Given the description of an element on the screen output the (x, y) to click on. 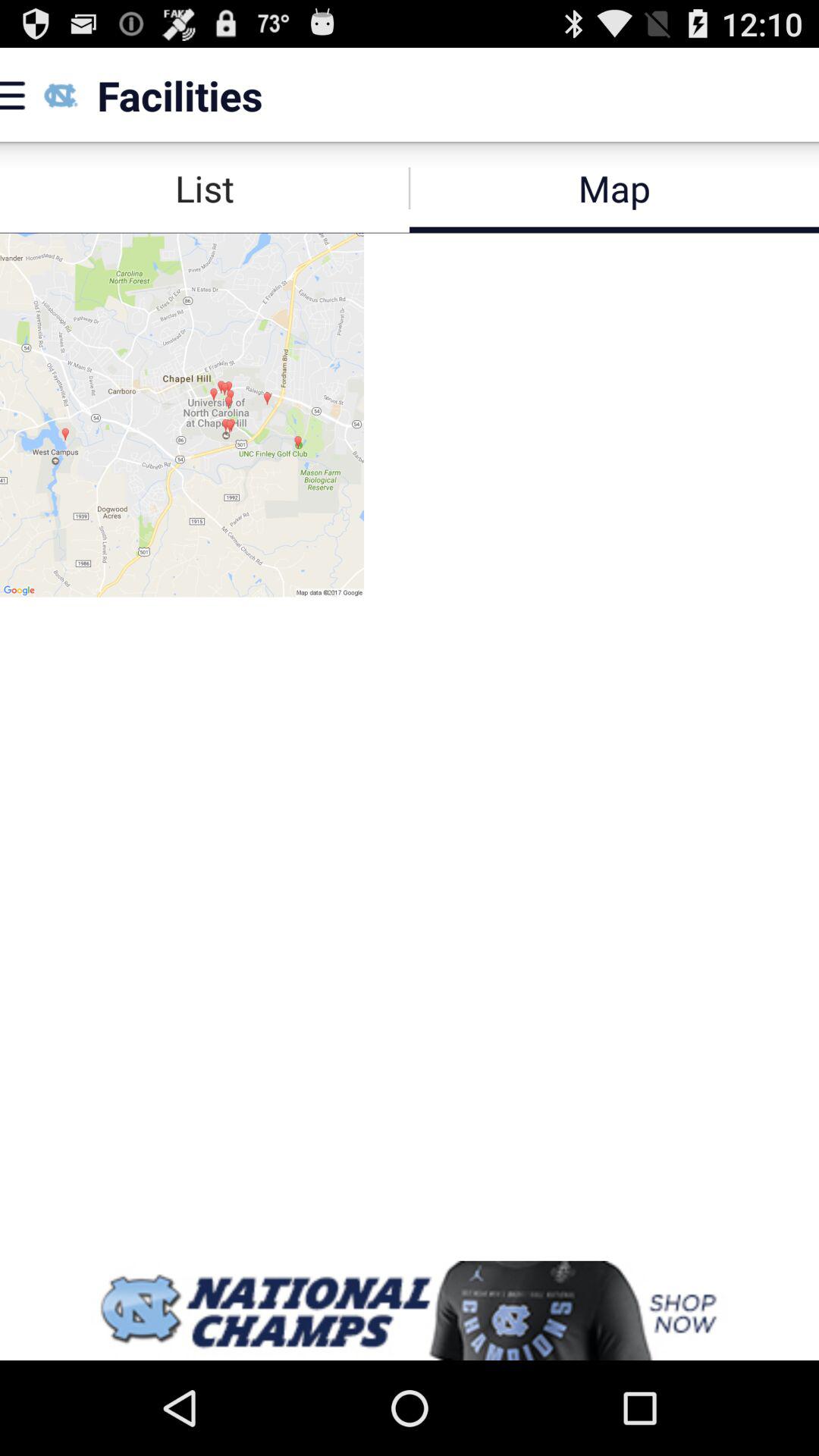
advertisement display (409, 1310)
